Given the description of an element on the screen output the (x, y) to click on. 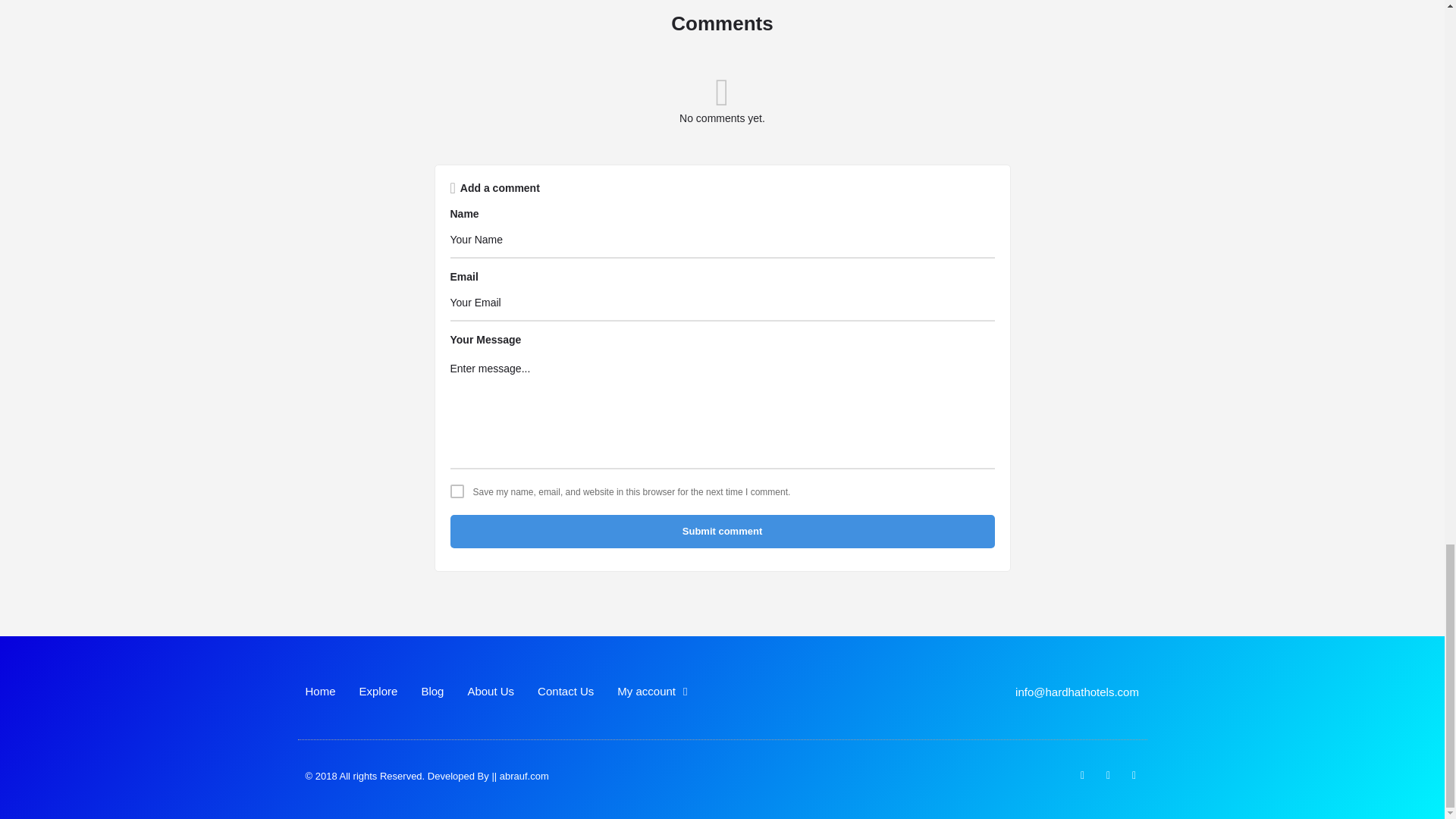
Submit comment (721, 531)
My account (652, 691)
Explore (378, 691)
Contact Us (565, 691)
About Us (490, 691)
